Given the description of an element on the screen output the (x, y) to click on. 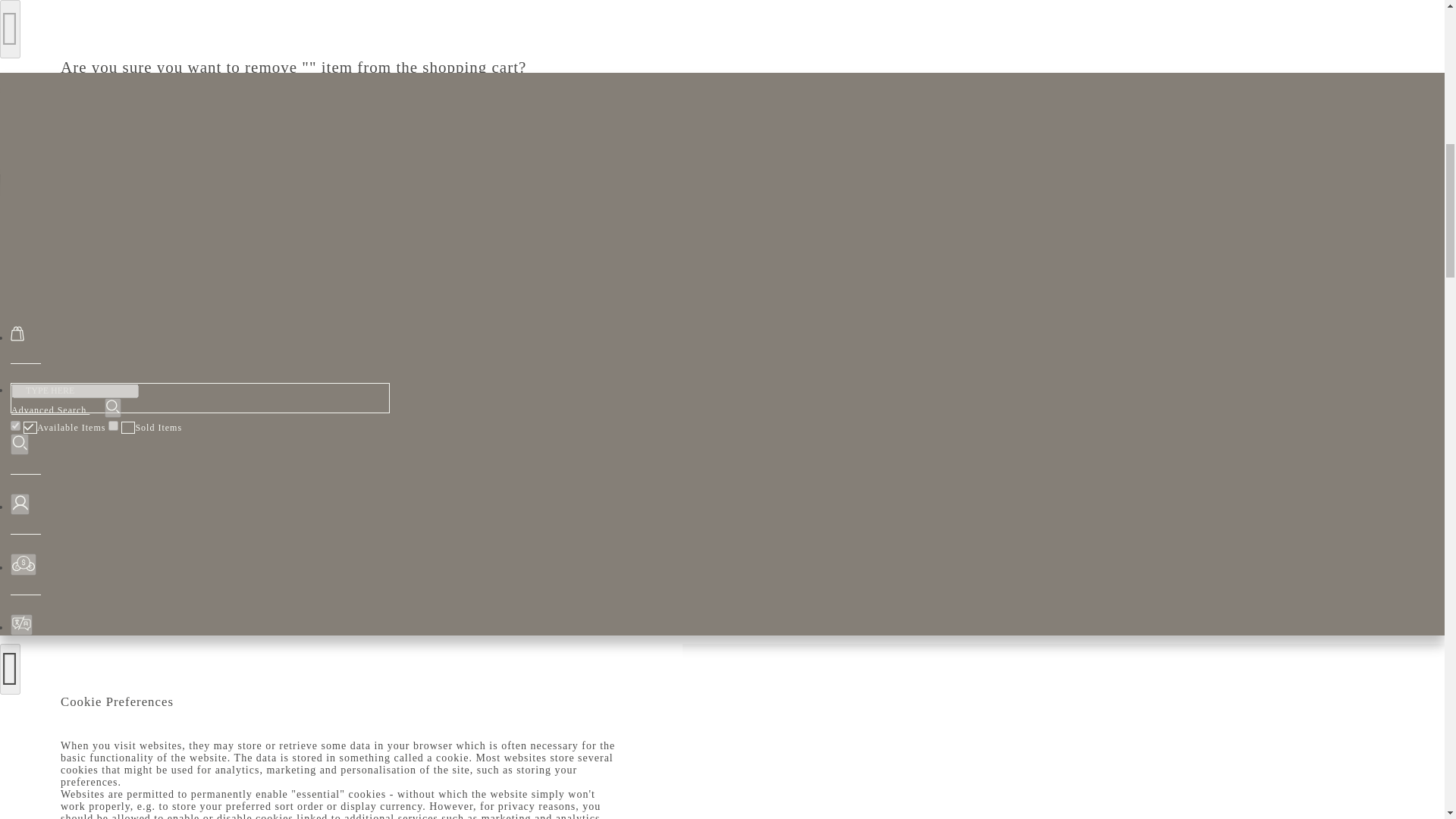
1 (15, 425)
0 (65, 429)
1 (112, 425)
